Given the description of an element on the screen output the (x, y) to click on. 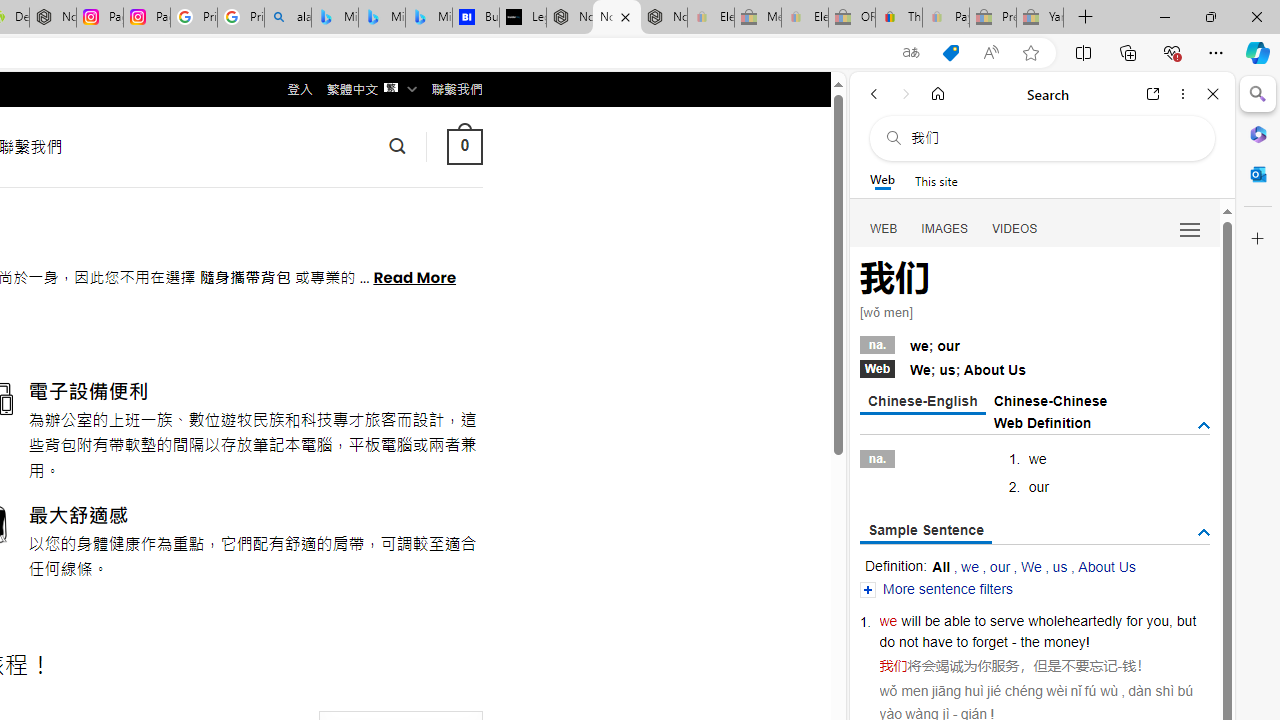
but (1186, 620)
not (908, 642)
AutomationID: tgdef (1203, 425)
Payments Terms of Use | eBay.com - Sleeping (945, 17)
Microsoft Bing Travel - Flights from Hong Kong to Bangkok (335, 17)
you (1157, 620)
, (1170, 620)
About Us (1106, 566)
Press Room - eBay Inc. - Sleeping (993, 17)
